Given the description of an element on the screen output the (x, y) to click on. 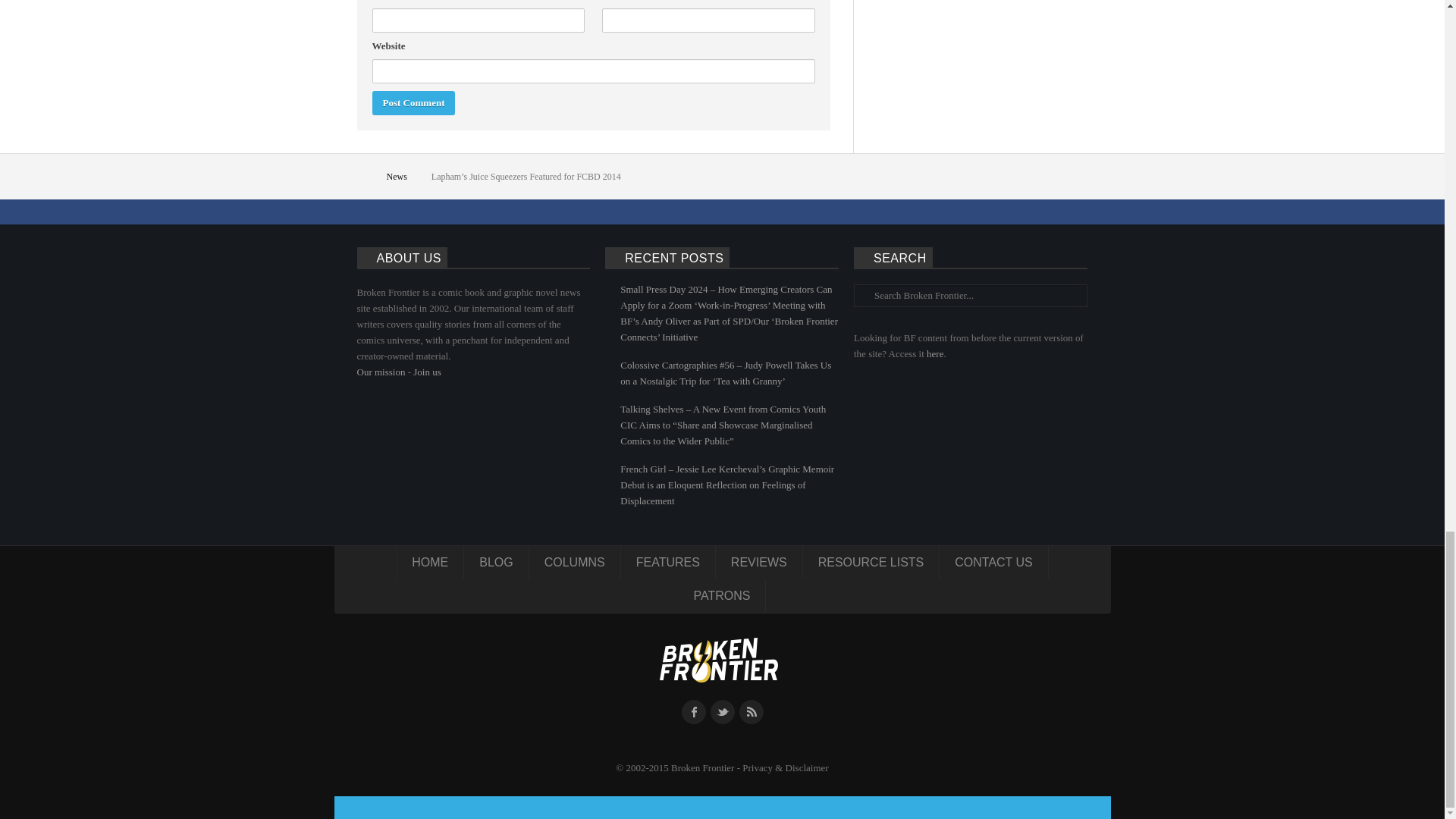
Post Comment (412, 102)
Our mission (380, 371)
Join us (427, 371)
News (399, 176)
Post Comment (412, 102)
Search Broken Frontier... (978, 295)
